Given the description of an element on the screen output the (x, y) to click on. 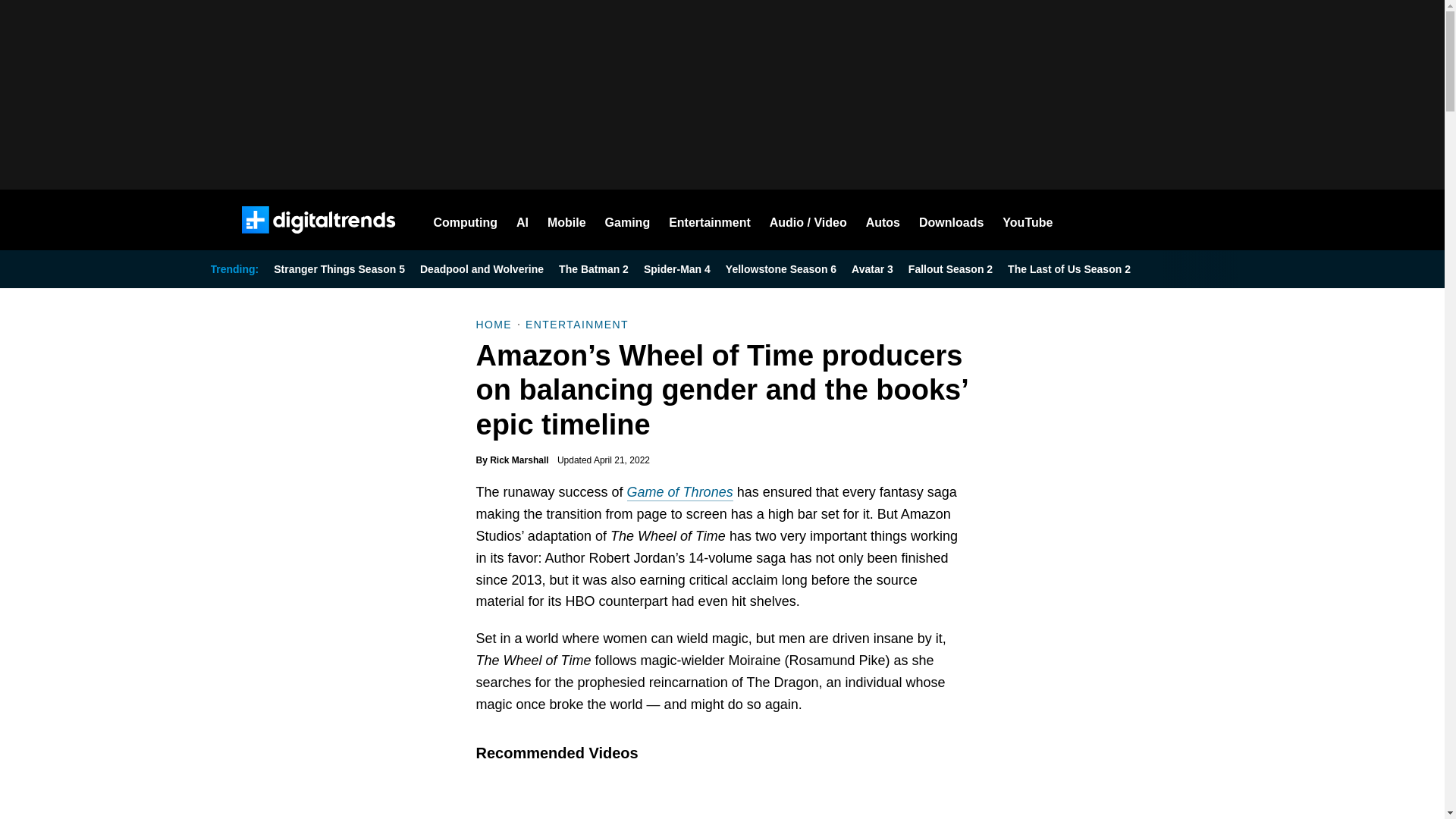
Computing (465, 219)
Downloads (951, 219)
Entertainment (709, 219)
